Given the description of an element on the screen output the (x, y) to click on. 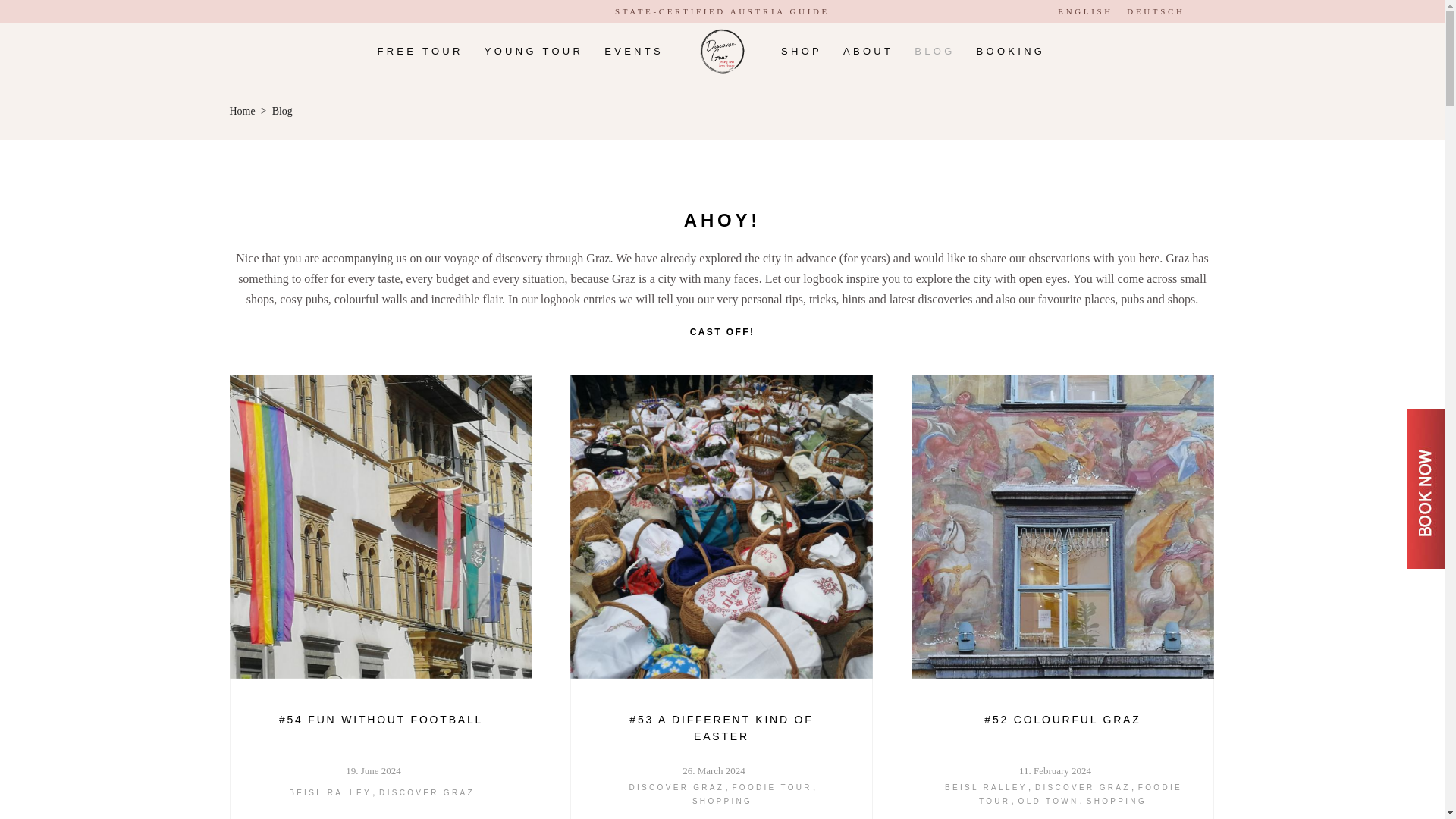
ABOUT (868, 50)
YOUNG TOUR (534, 50)
FREE TOUR (419, 50)
EVENTS (634, 50)
DEUTSCH (1155, 10)
ENGLISH (1085, 10)
BLOG (934, 50)
SHOP (801, 50)
BOOKING (1011, 50)
